Given the description of an element on the screen output the (x, y) to click on. 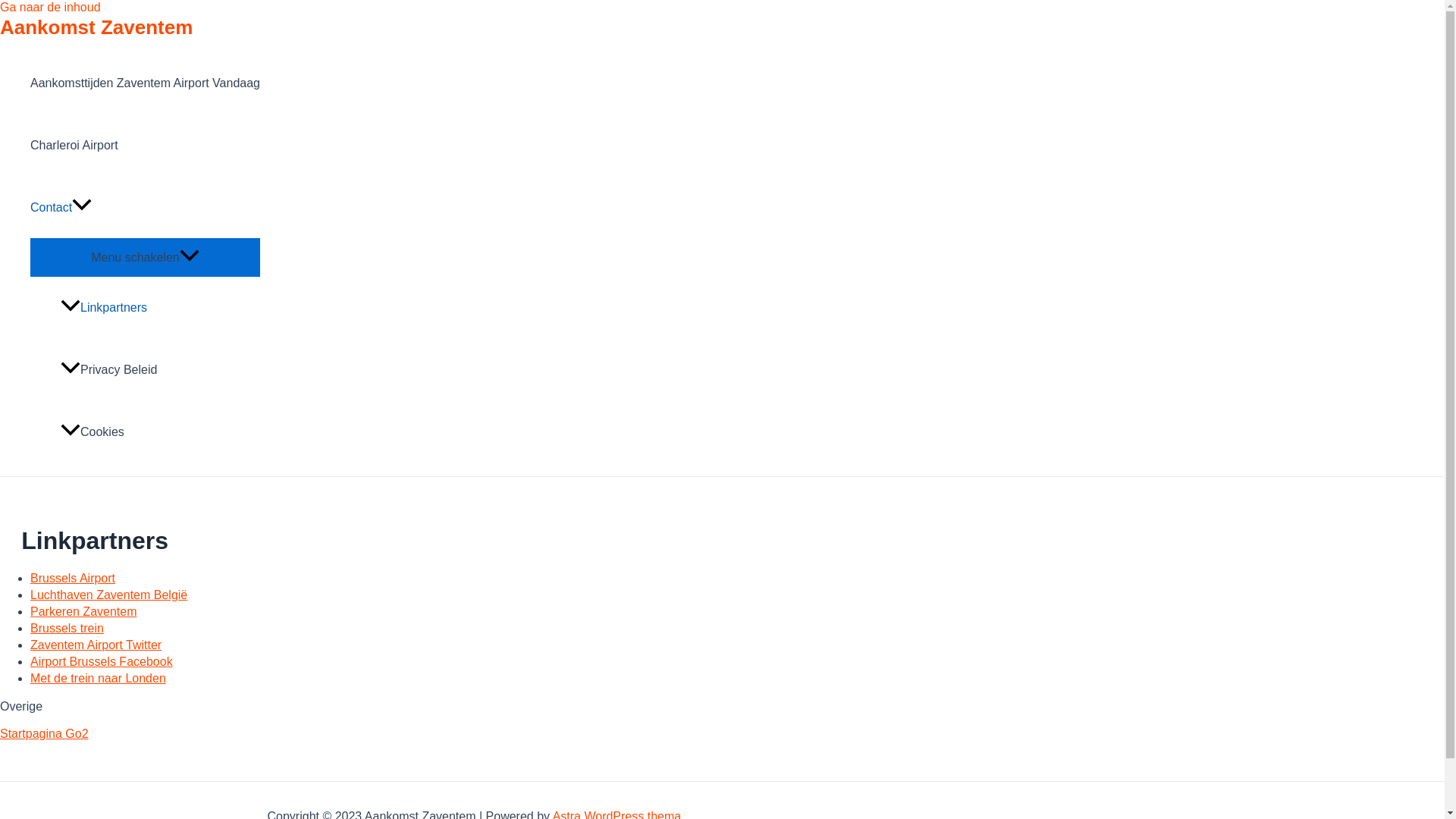
Charleroi Airport Element type: text (145, 145)
Privacy Beleid Element type: text (158, 369)
Linkpartners Element type: text (158, 307)
Parkeren Zaventem Element type: text (83, 611)
Zaventem Airport Twitter Element type: text (95, 644)
Startpagina Go2 Element type: text (44, 733)
Brussels trein Element type: text (66, 627)
Met de trein naar Londen Element type: text (98, 677)
Contact Element type: text (145, 207)
Aankomst Zaventem Element type: text (96, 26)
Menu schakelen Element type: text (145, 256)
Ga naar de inhoud Element type: text (50, 6)
Aankomsttijden Zaventem Airport Vandaag Element type: text (145, 83)
Airport Brussels Facebook Element type: text (101, 661)
Cookies Element type: text (158, 431)
Brussels Airport Element type: text (72, 577)
